Given the description of an element on the screen output the (x, y) to click on. 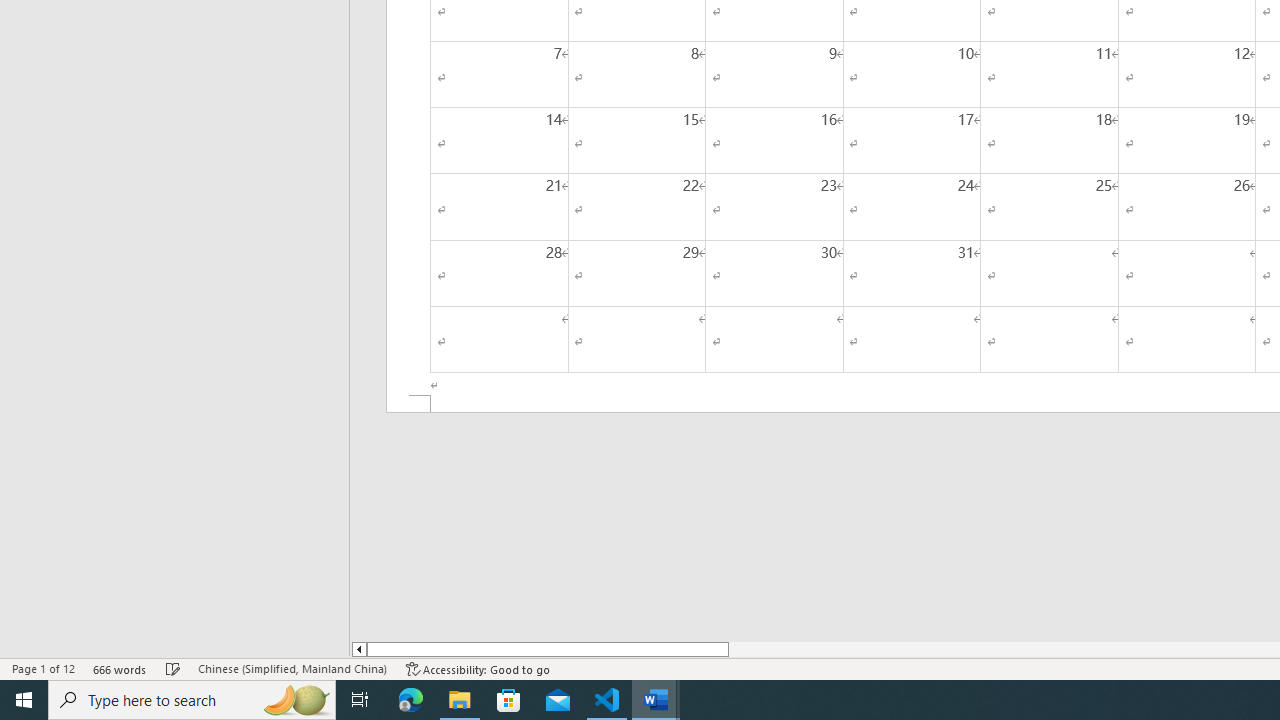
Word Count 666 words (119, 668)
Column left (358, 649)
Page Number Page 1 of 12 (43, 668)
